Given the description of an element on the screen output the (x, y) to click on. 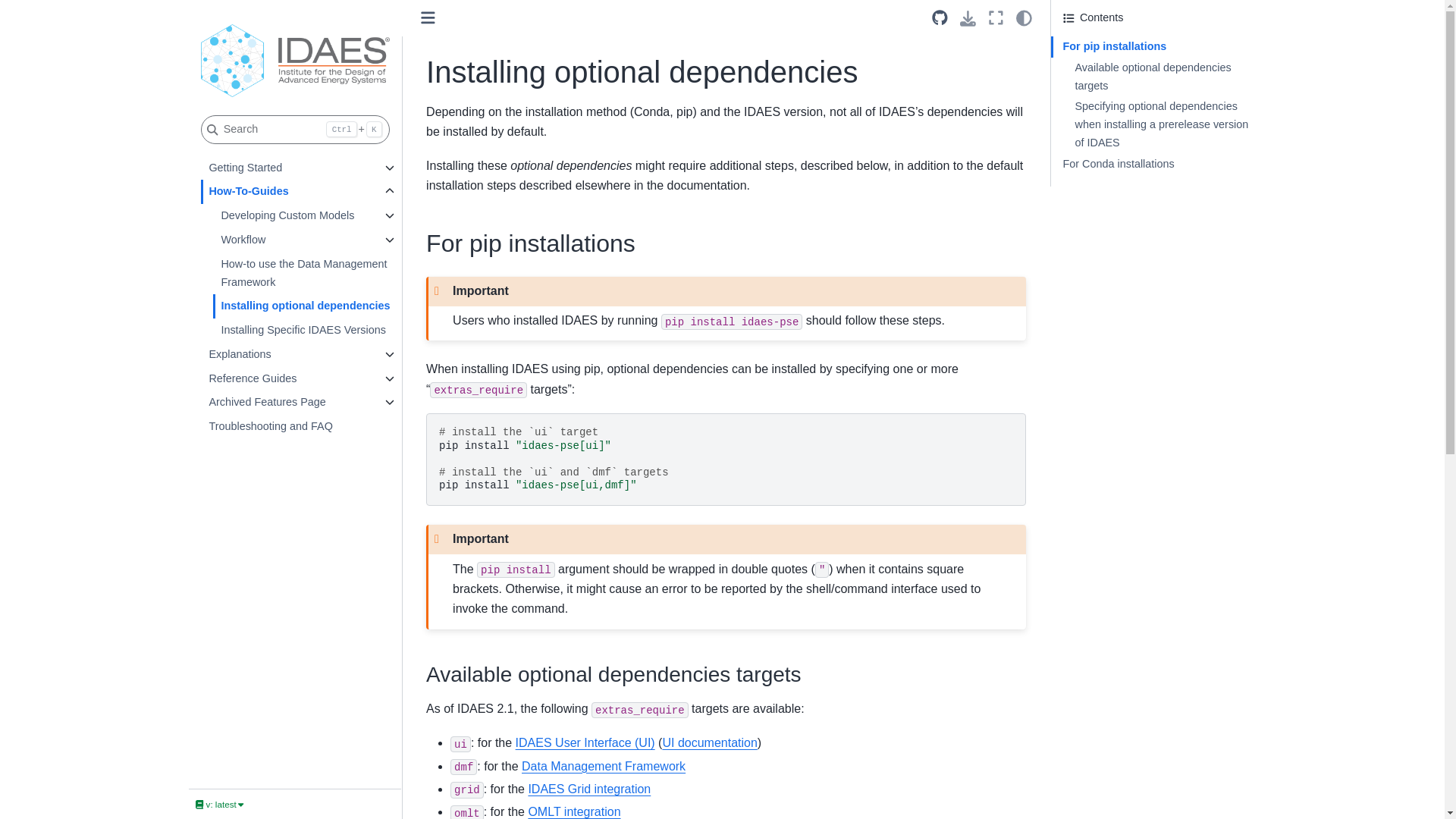
How-to use the Data Management Framework (305, 273)
Workflow (293, 240)
Installing optional dependencies (305, 306)
Explanations (287, 354)
Installing Specific IDAES Versions (305, 330)
How-To-Guides (287, 191)
Getting Started (287, 168)
Developing Custom Models (293, 215)
